Given the description of an element on the screen output the (x, y) to click on. 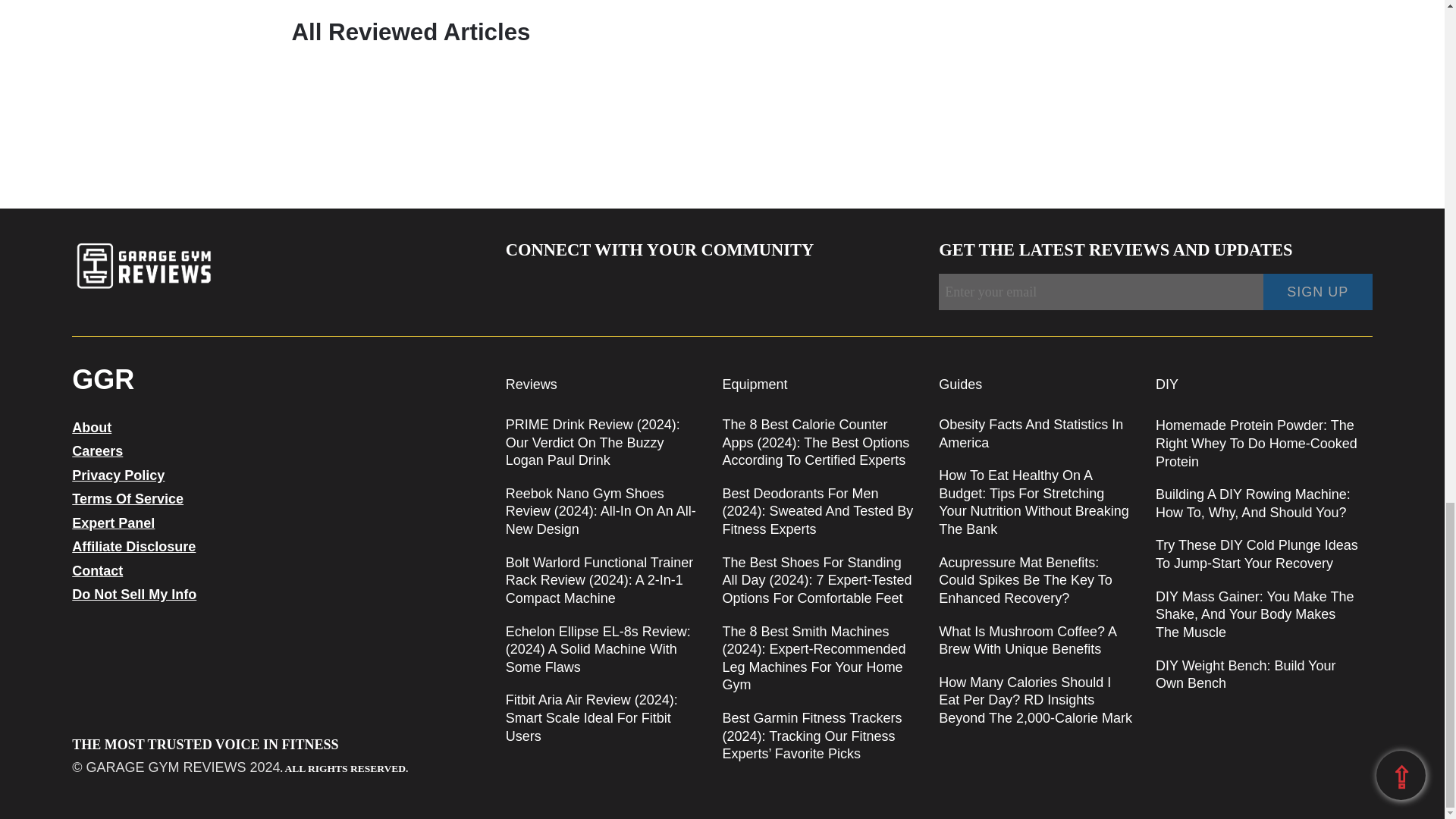
Equipment (754, 384)
Guides (960, 384)
Reviews (531, 384)
Sign Up (1318, 291)
